Given the description of an element on the screen output the (x, y) to click on. 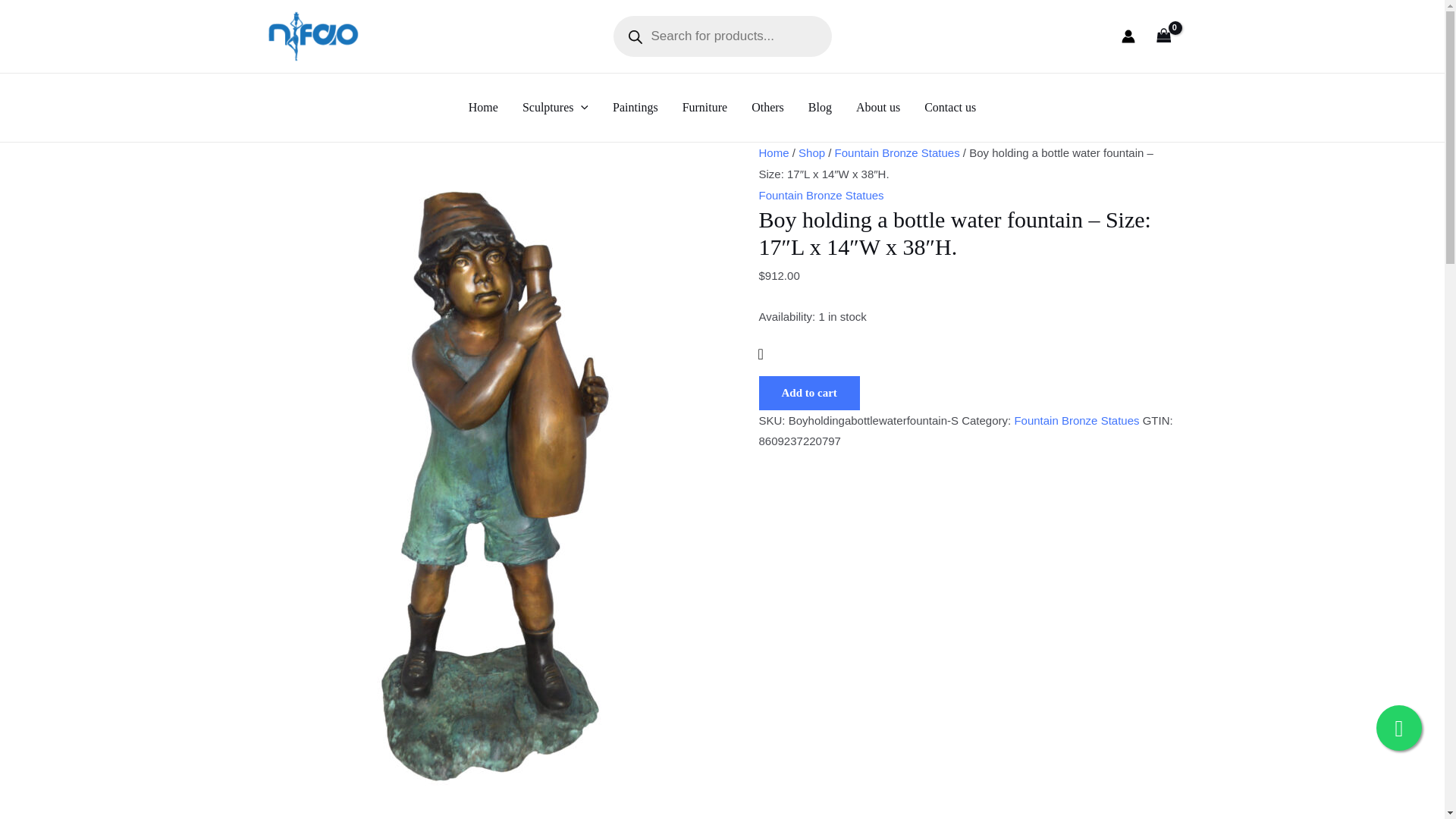
Paintings (634, 107)
Home (484, 107)
About us (878, 107)
Blog (820, 107)
Others (767, 107)
Sculptures (555, 107)
Furniture (704, 107)
Contact us (950, 107)
